Given the description of an element on the screen output the (x, y) to click on. 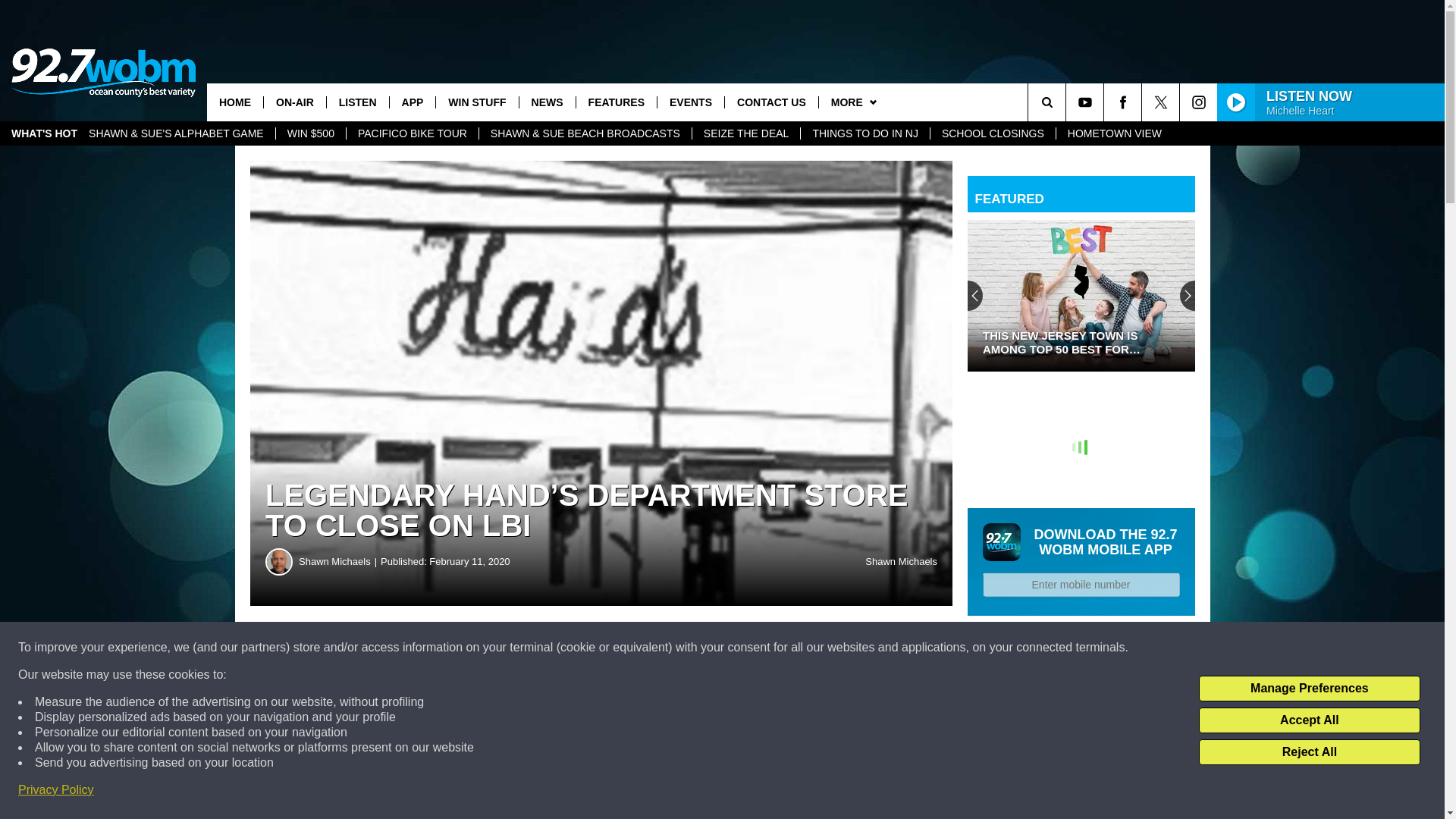
SEIZE THE DEAL (745, 133)
HOMETOWN VIEW (1114, 133)
Reject All (1309, 751)
SEARCH (1068, 102)
SEARCH (1068, 102)
HOME (234, 102)
Privacy Policy (55, 789)
SCHOOL CLOSINGS (992, 133)
Accept All (1309, 720)
ON-AIR (294, 102)
PACIFICO BIKE TOUR (412, 133)
Manage Preferences (1309, 688)
LISTEN (357, 102)
THINGS TO DO IN NJ (864, 133)
Share on Facebook (460, 647)
